Given the description of an element on the screen output the (x, y) to click on. 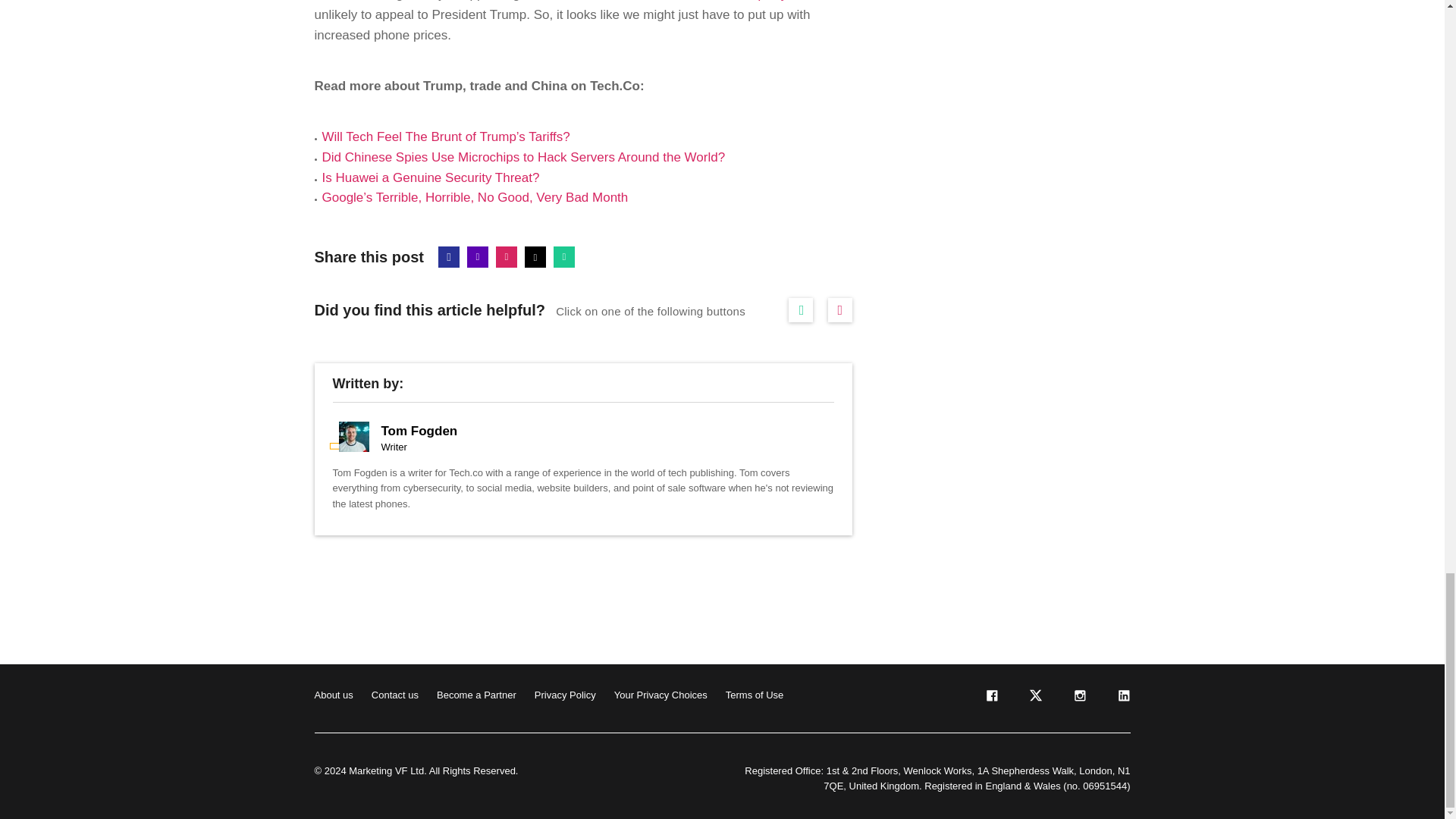
Linkedin (477, 256)
Whatsapp (564, 256)
Flipboard (506, 256)
Facebook (449, 256)
twitter-x (1034, 698)
Twitter-x (535, 256)
instagram (1078, 698)
linkedin (1122, 698)
facebook (990, 698)
